Given the description of an element on the screen output the (x, y) to click on. 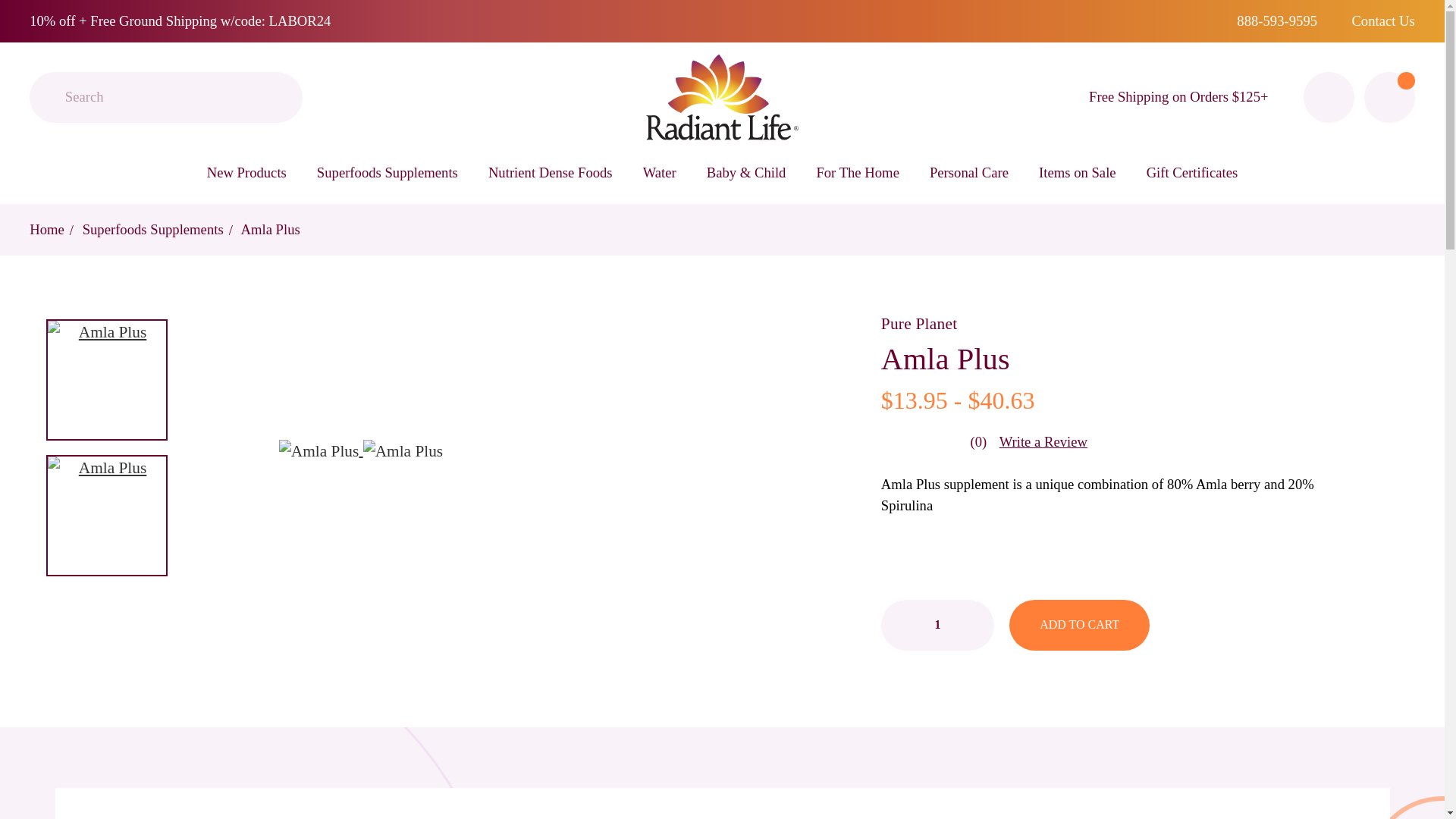
1 (936, 625)
Amla Plus (402, 451)
New Products (246, 172)
Amla Plus (318, 451)
Add to Cart (1079, 624)
888-593-9595 (1276, 20)
Superfoods Supplements (387, 172)
Amla Plus (106, 379)
Amla Plus (106, 515)
Contact Us (1382, 20)
